Given the description of an element on the screen output the (x, y) to click on. 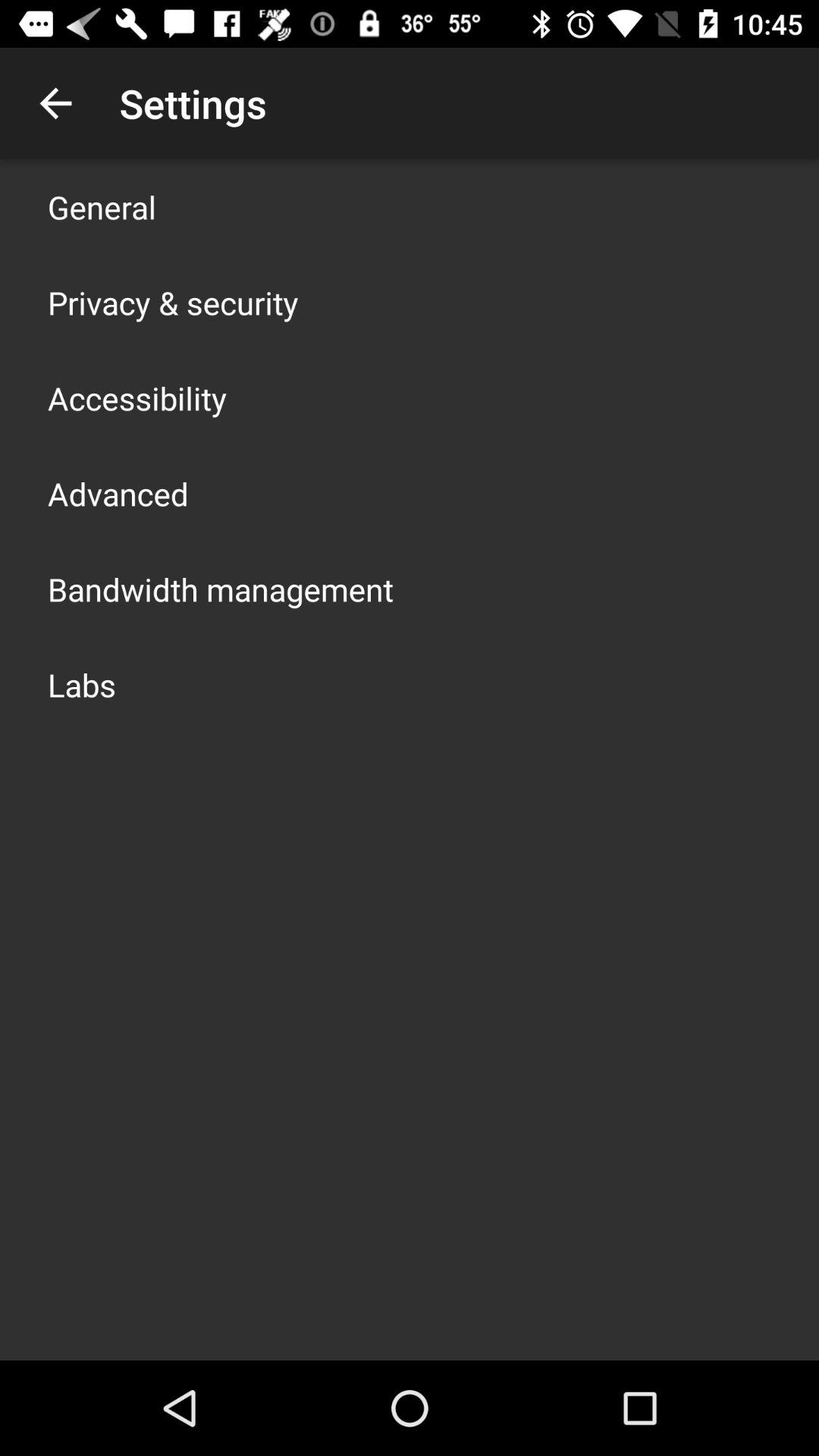
tap the accessibility icon (136, 397)
